Given the description of an element on the screen output the (x, y) to click on. 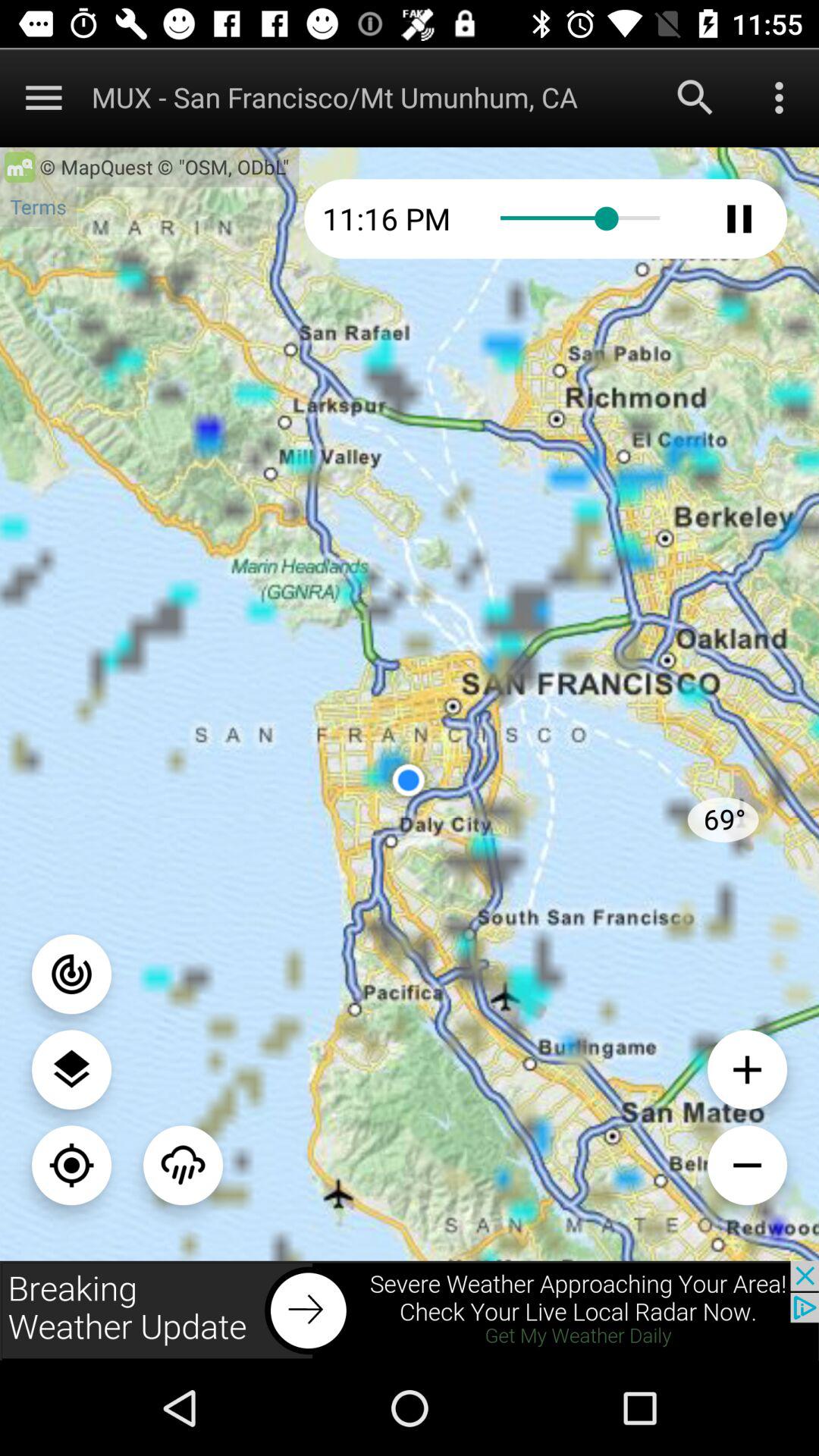
pause (739, 218)
